Given the description of an element on the screen output the (x, y) to click on. 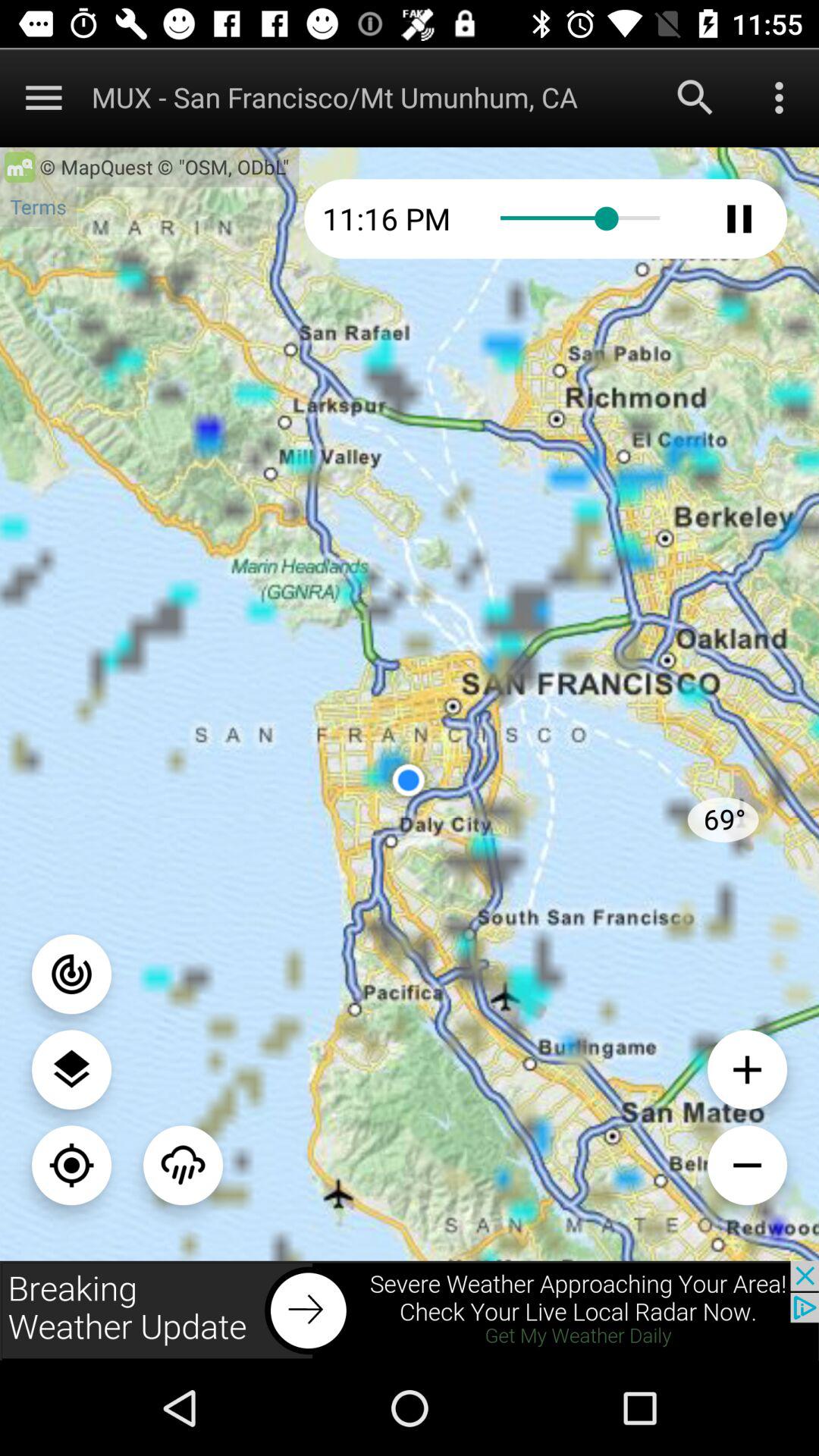
pause (739, 218)
